Given the description of an element on the screen output the (x, y) to click on. 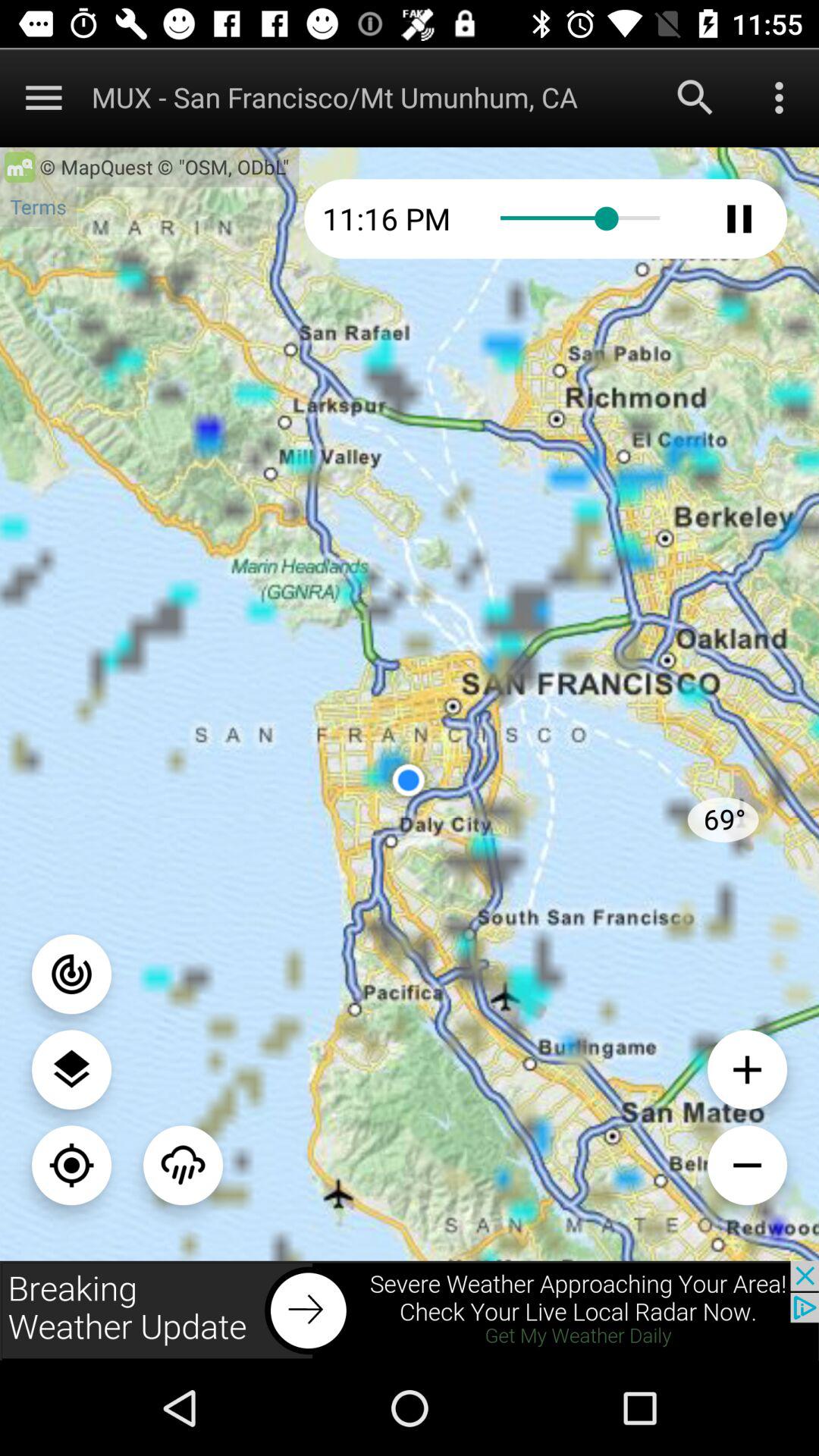
pause (739, 218)
